Given the description of an element on the screen output the (x, y) to click on. 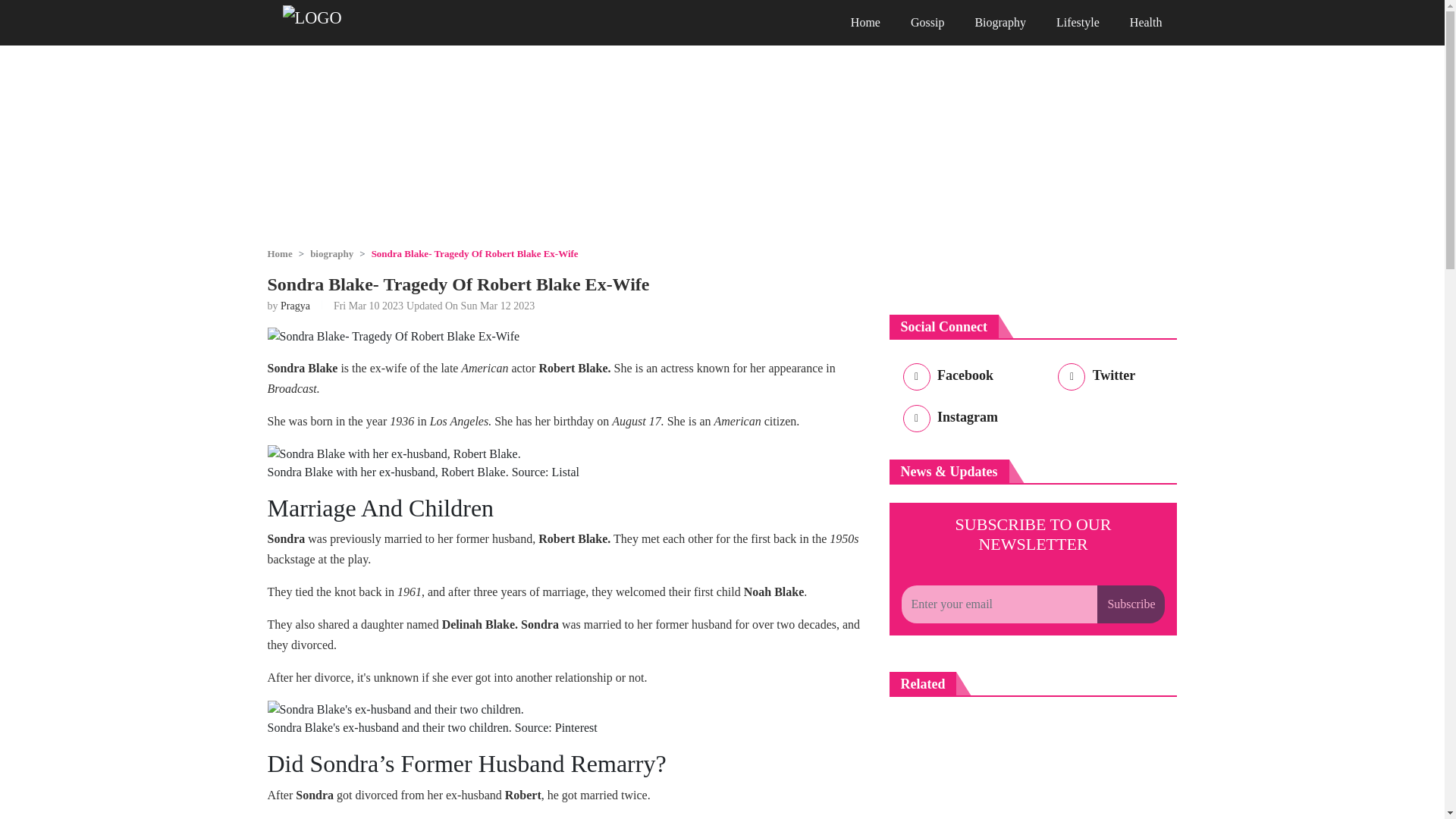
biography (331, 253)
Health (1146, 22)
Twitter (1093, 378)
Sondra Blake- Tragedy Of Robert Blake Ex-Wife (392, 336)
Gossip (927, 22)
Home (865, 22)
Lifestyle (1078, 22)
Home (279, 253)
Subscribe (1130, 604)
Pragya (295, 306)
Biography (1000, 22)
Facebook (945, 378)
Instagram (947, 420)
